Given the description of an element on the screen output the (x, y) to click on. 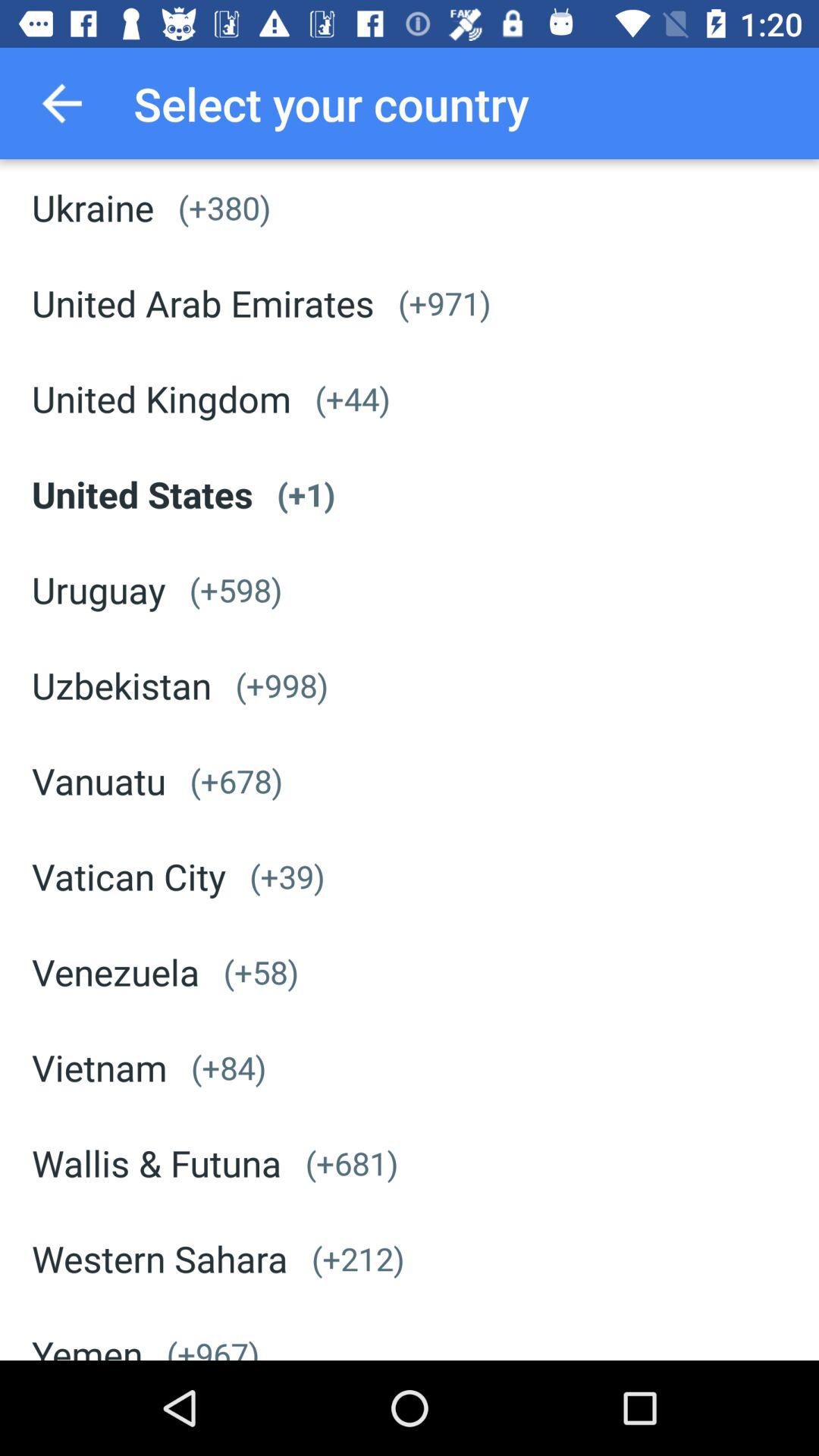
flip until the united kingdom item (161, 398)
